Given the description of an element on the screen output the (x, y) to click on. 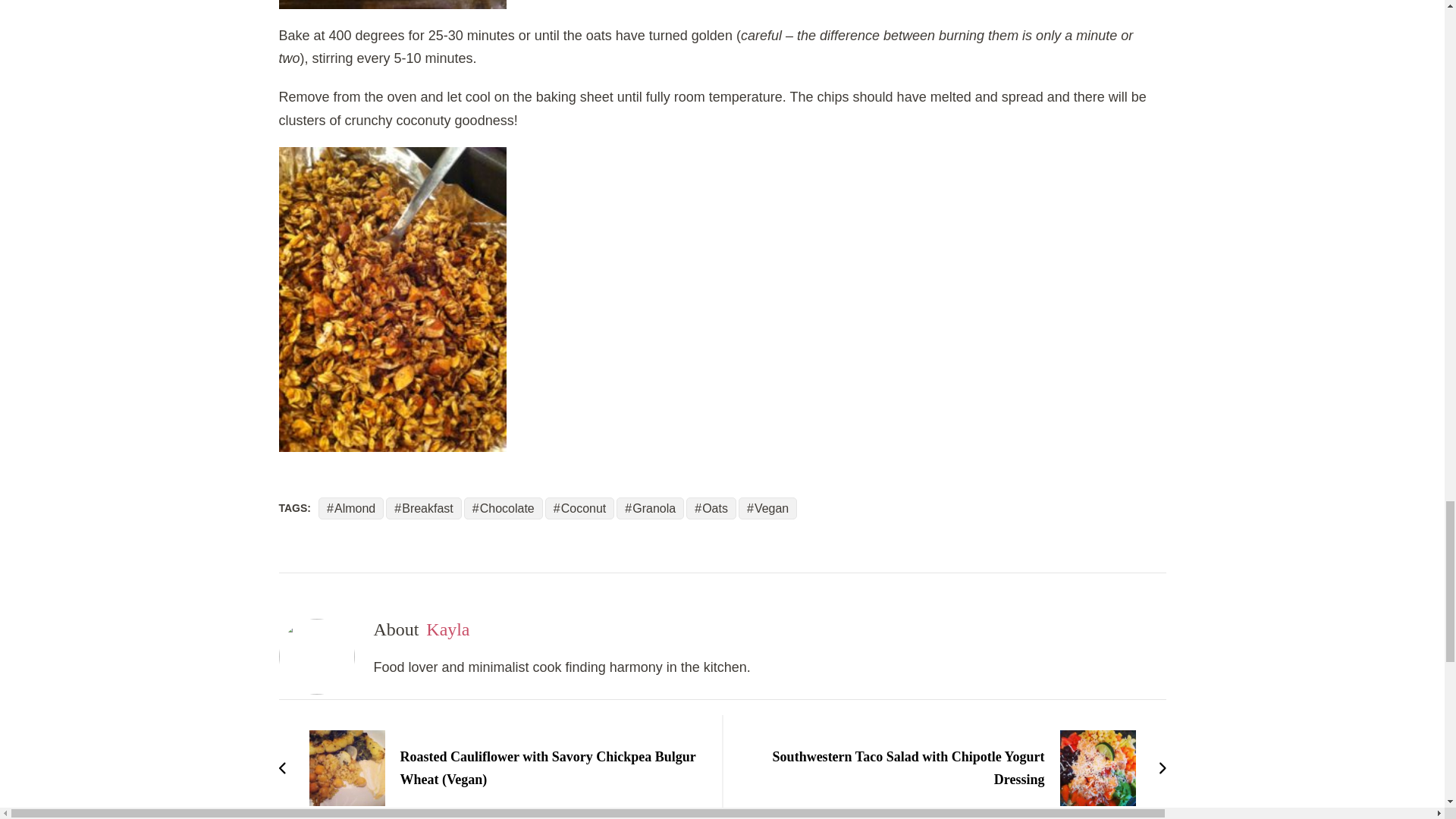
Granola (649, 508)
Coconut (579, 508)
Oats (710, 508)
Almond (351, 508)
Chocolate (503, 508)
Southwestern Taco Salad with Chipotle Yogurt Dressing (951, 767)
Breakfast (423, 508)
Vegan (767, 508)
